Given the description of an element on the screen output the (x, y) to click on. 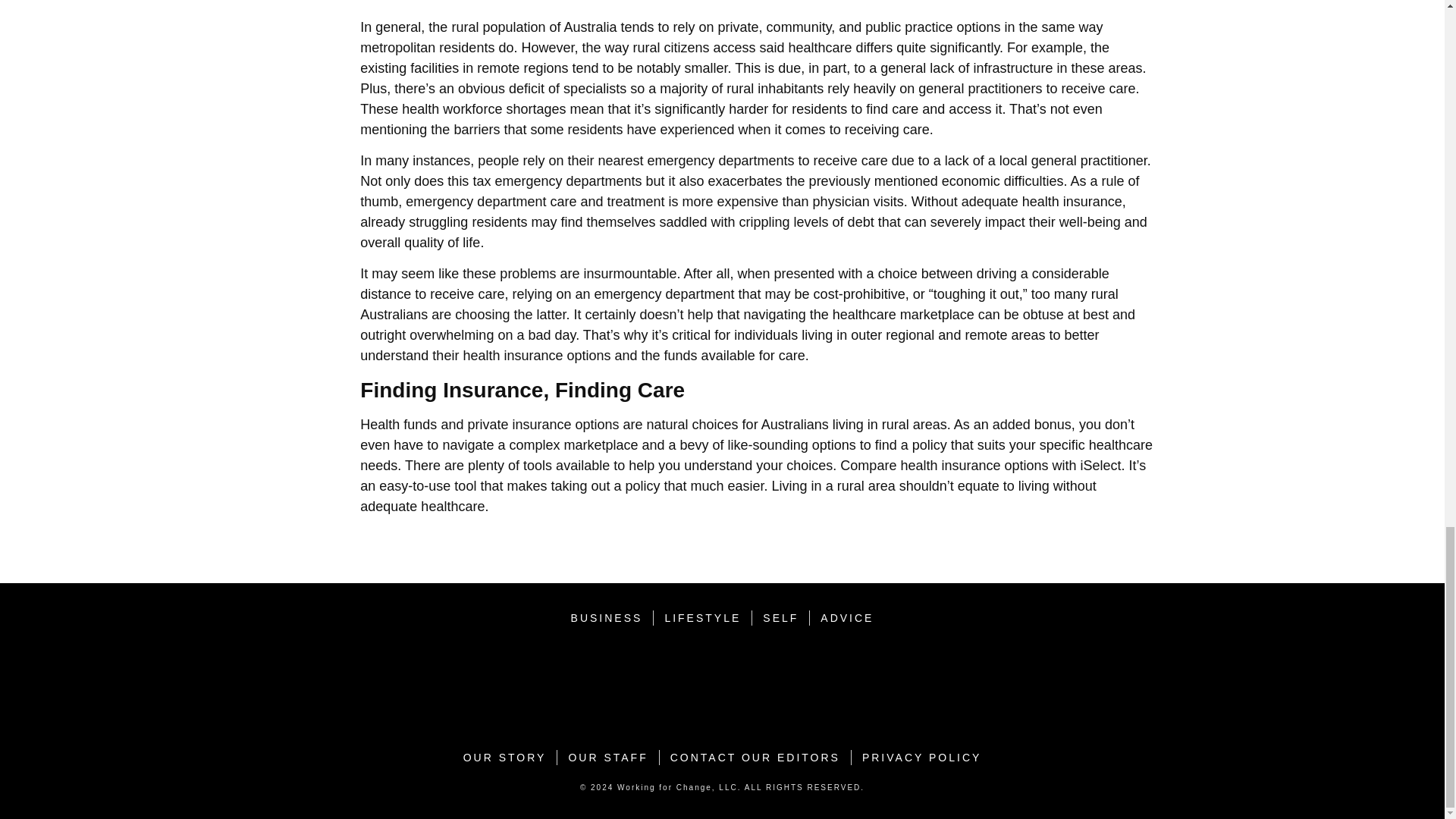
ADVICE (846, 618)
BUSINESS (606, 618)
private, community, and public practice options (859, 27)
health insurance options (536, 355)
OUR STORY (505, 757)
OUR STAFF (607, 757)
LIFESTYLE (702, 618)
PRIVACY POLICY (921, 757)
Health funds (397, 424)
SELF (781, 618)
CONTACT OUR EDITORS (754, 757)
